Given the description of an element on the screen output the (x, y) to click on. 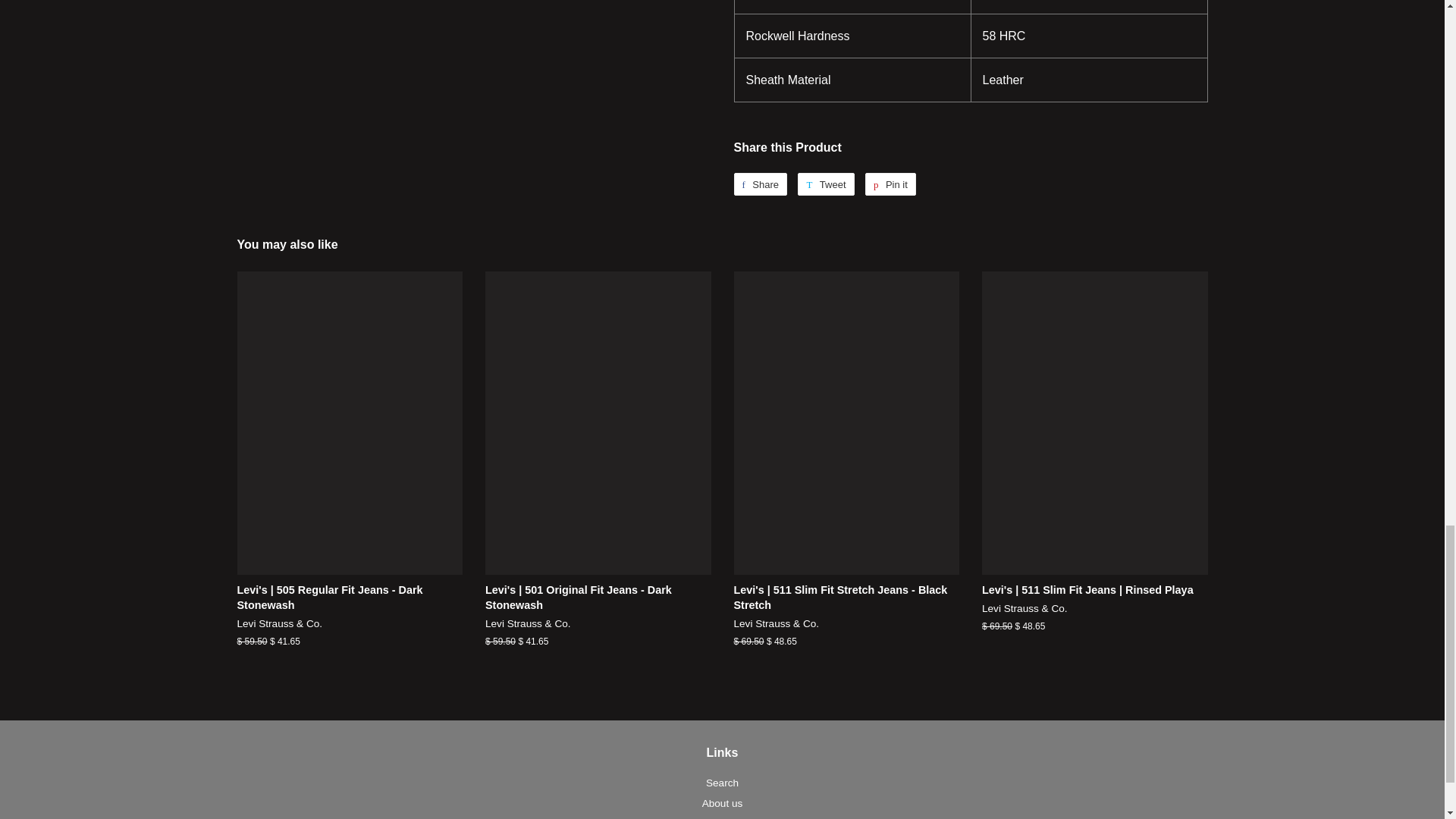
Share on Facebook (760, 183)
Tweet on Twitter (825, 183)
Pin on Pinterest (889, 183)
